Given the description of an element on the screen output the (x, y) to click on. 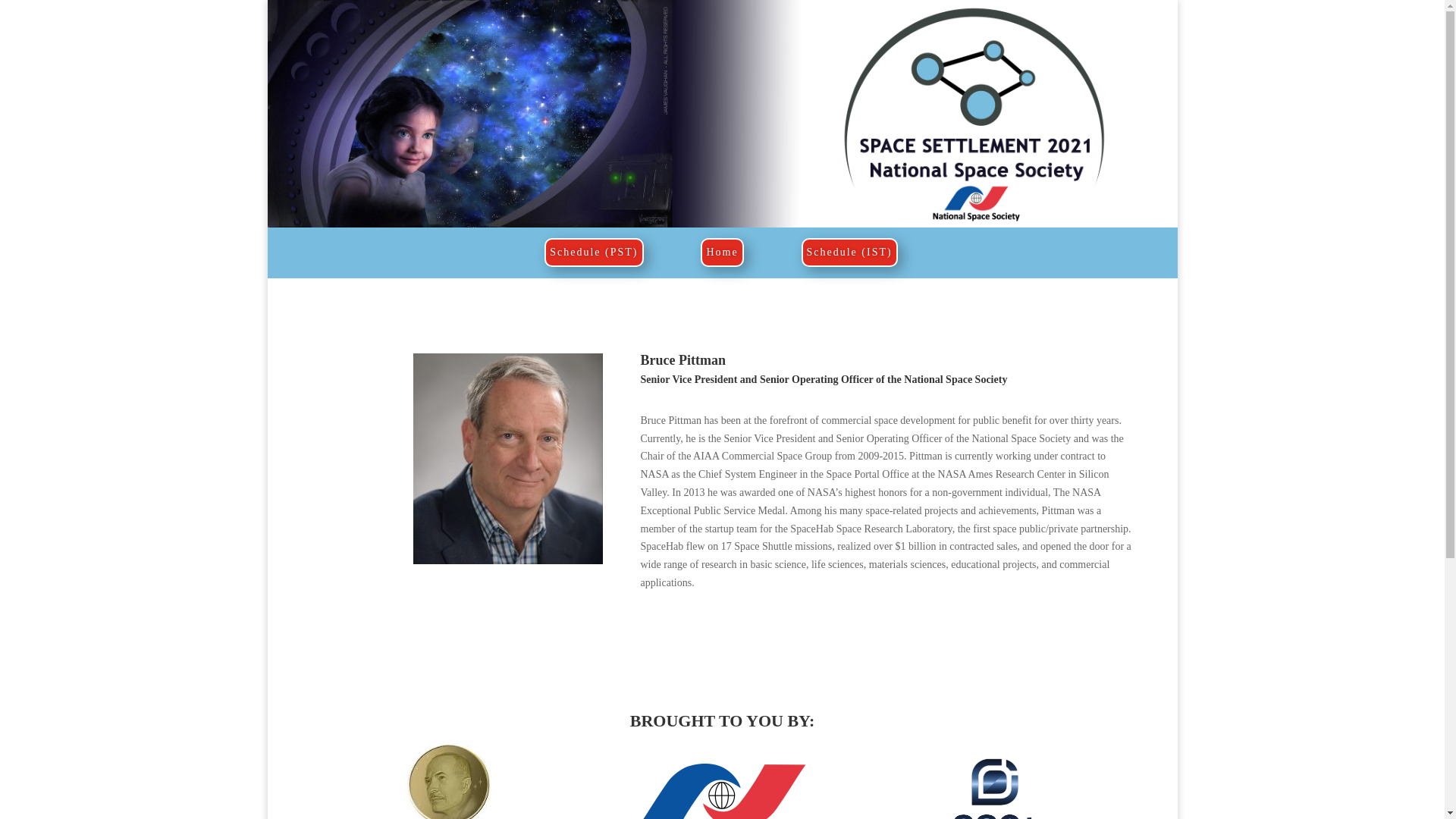
NSS logo black vC 6-24-18 (721, 791)
Home (721, 252)
Bruce Pittman (507, 458)
e360 tv-01-01 (995, 772)
Heinlein-Prize-Trust-logo (449, 780)
